Given the description of an element on the screen output the (x, y) to click on. 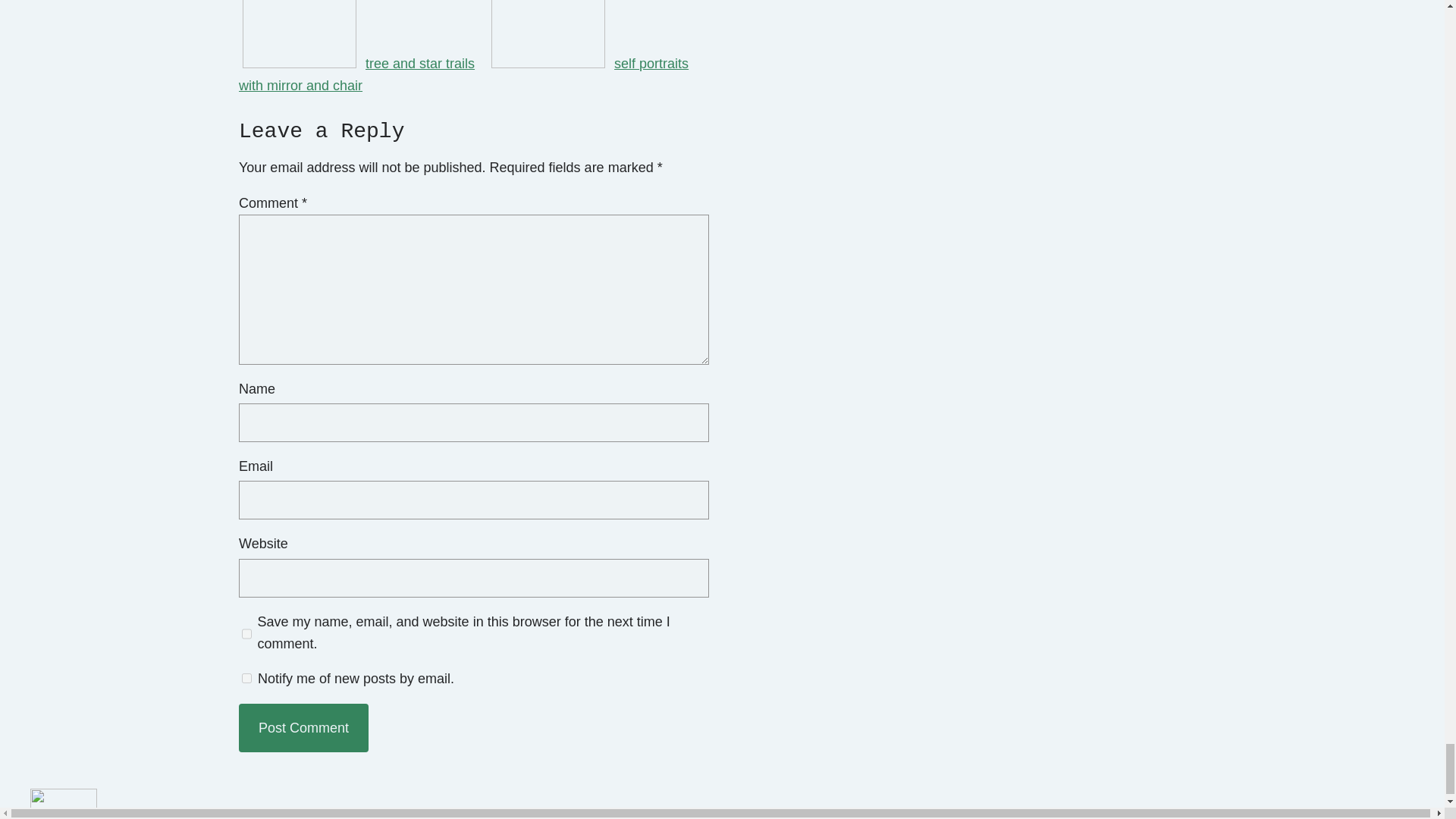
tree and star trails (359, 63)
Post Comment (303, 727)
self portraits with mirror and chair (463, 74)
tree and star trails (359, 63)
Post Comment (303, 727)
subscribe (246, 678)
self portraits with mirror and chair (463, 74)
